Given the description of an element on the screen output the (x, y) to click on. 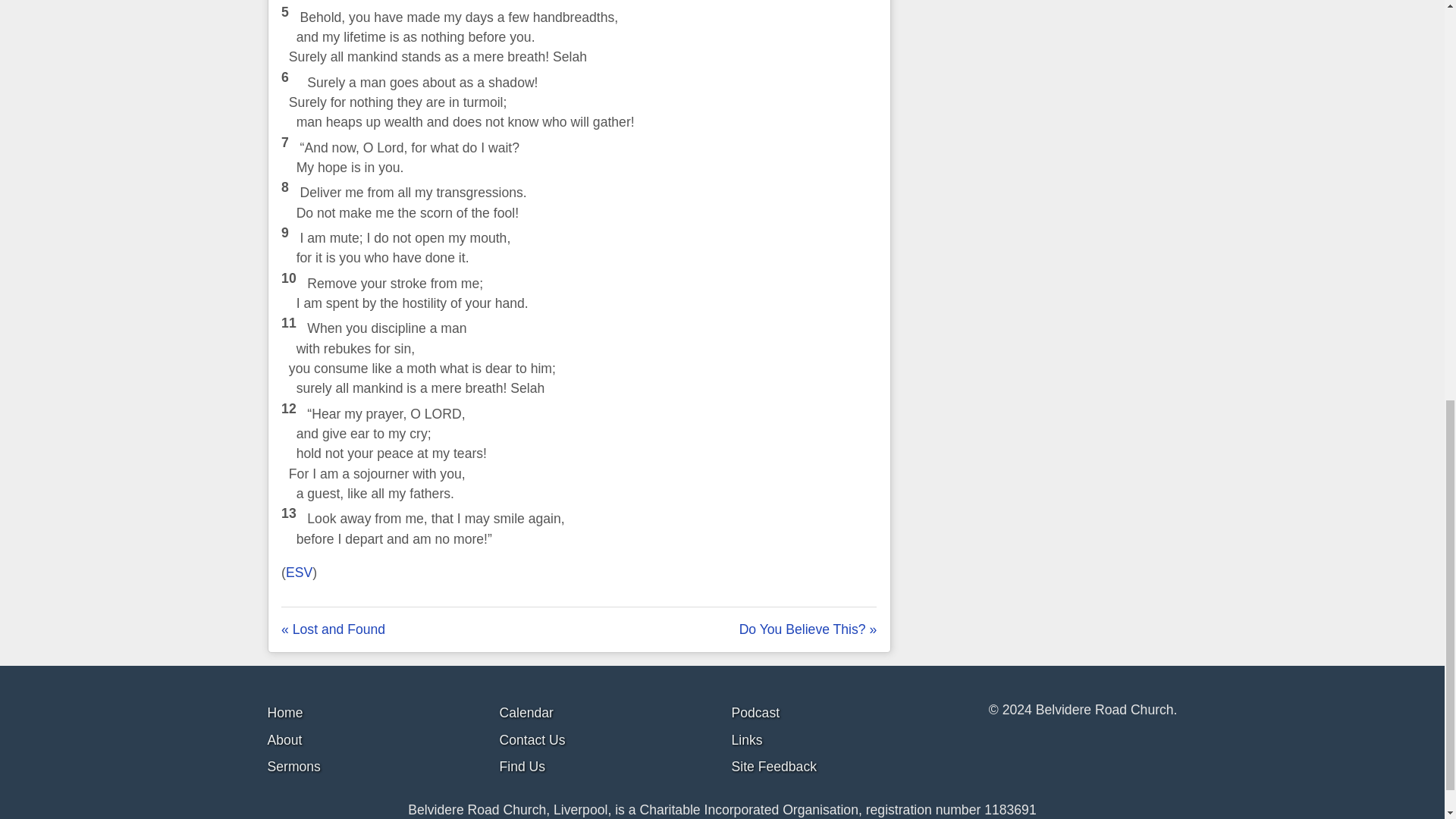
About (284, 739)
